Given the description of an element on the screen output the (x, y) to click on. 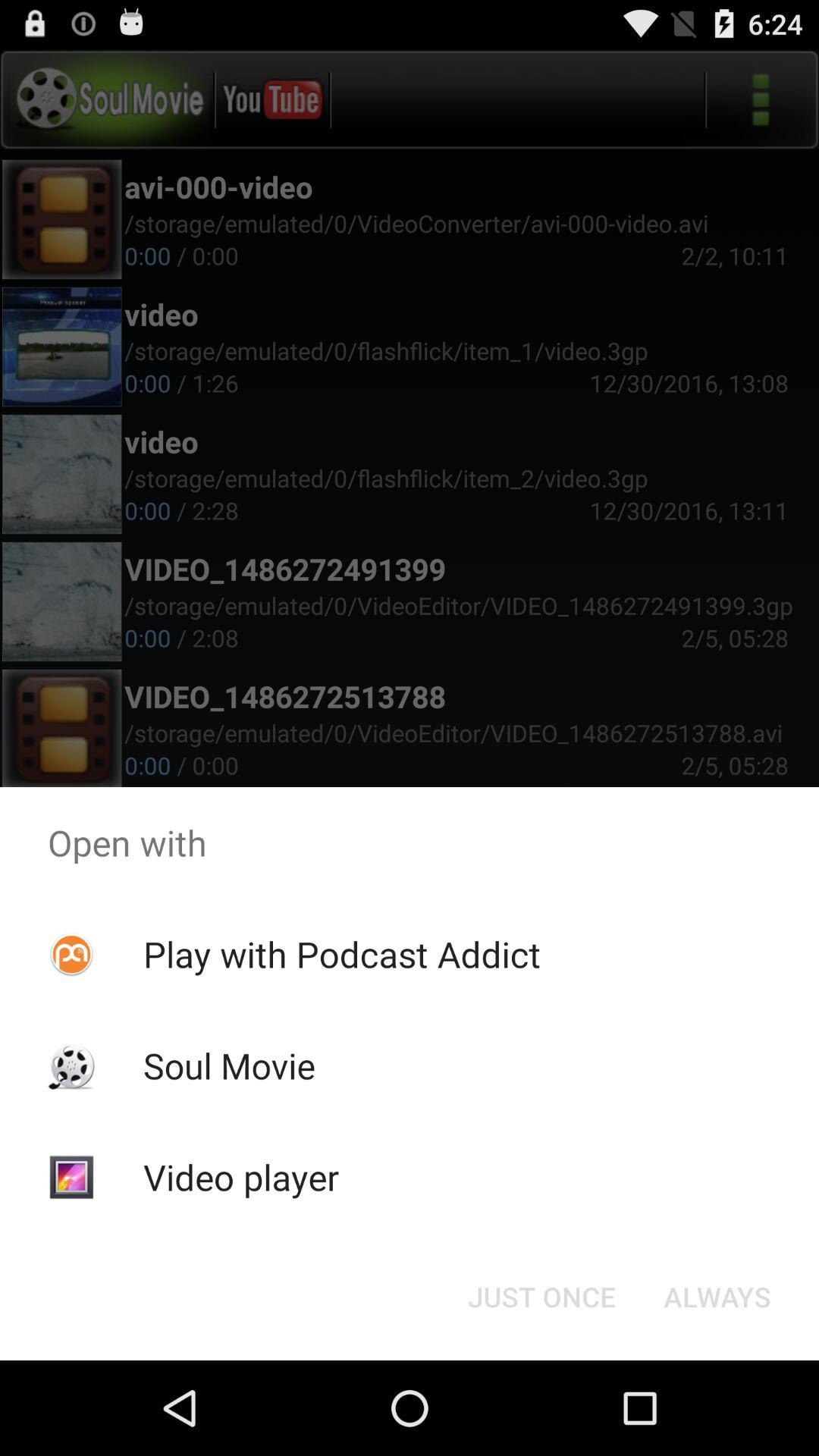
jump to the just once item (541, 1296)
